Given the description of an element on the screen output the (x, y) to click on. 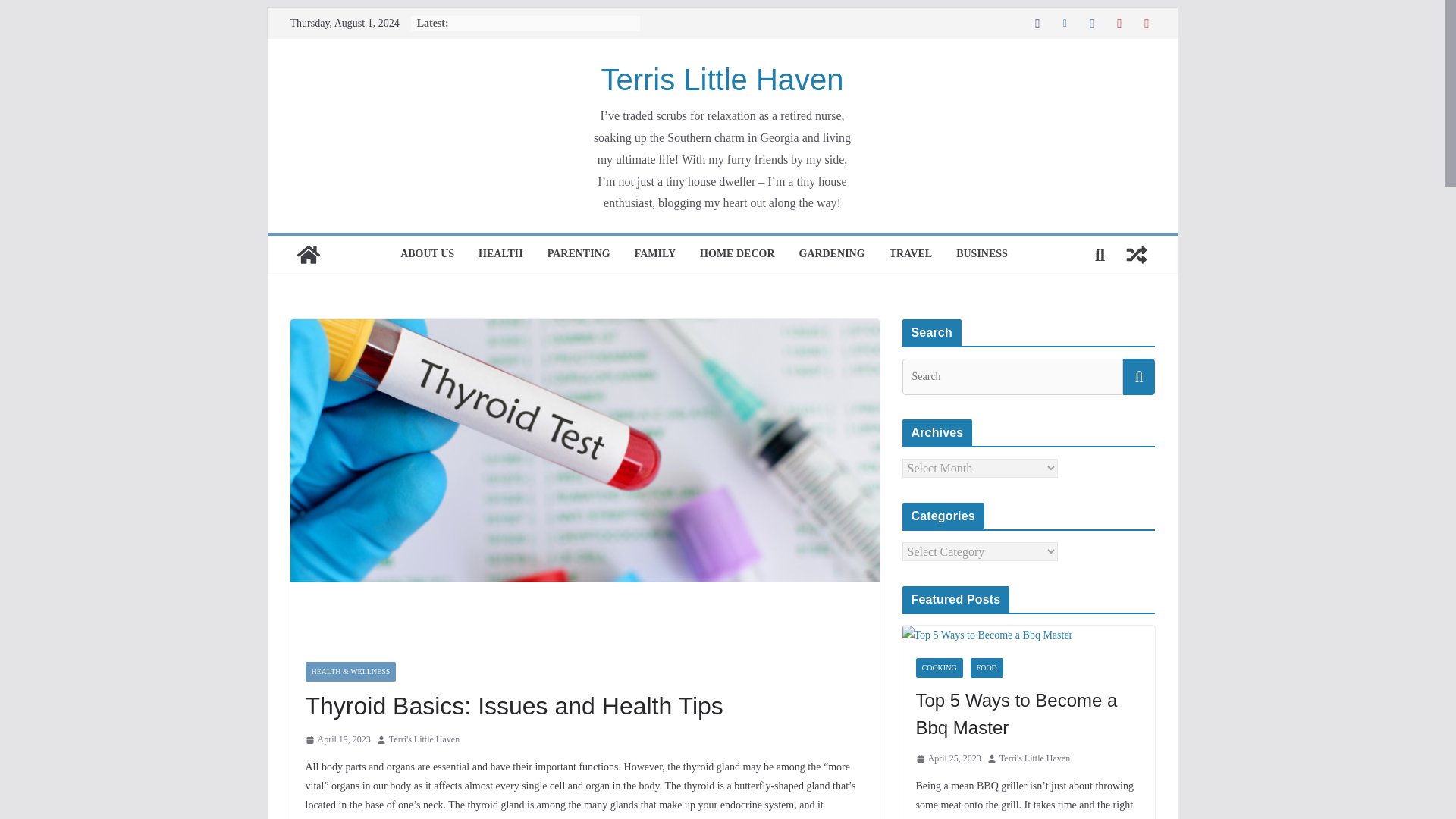
BUSINESS (981, 254)
PARENTING (578, 254)
HOME DECOR (737, 254)
Terris Little Haven (721, 79)
FAMILY (654, 254)
April 19, 2023 (336, 740)
HEALTH (500, 254)
TRAVEL (911, 254)
Terris Little Haven (307, 254)
11:50 am (336, 740)
Terri's Little Haven (424, 740)
Terri's Little Haven (424, 740)
GARDENING (831, 254)
View a random post (1136, 254)
